Given the description of an element on the screen output the (x, y) to click on. 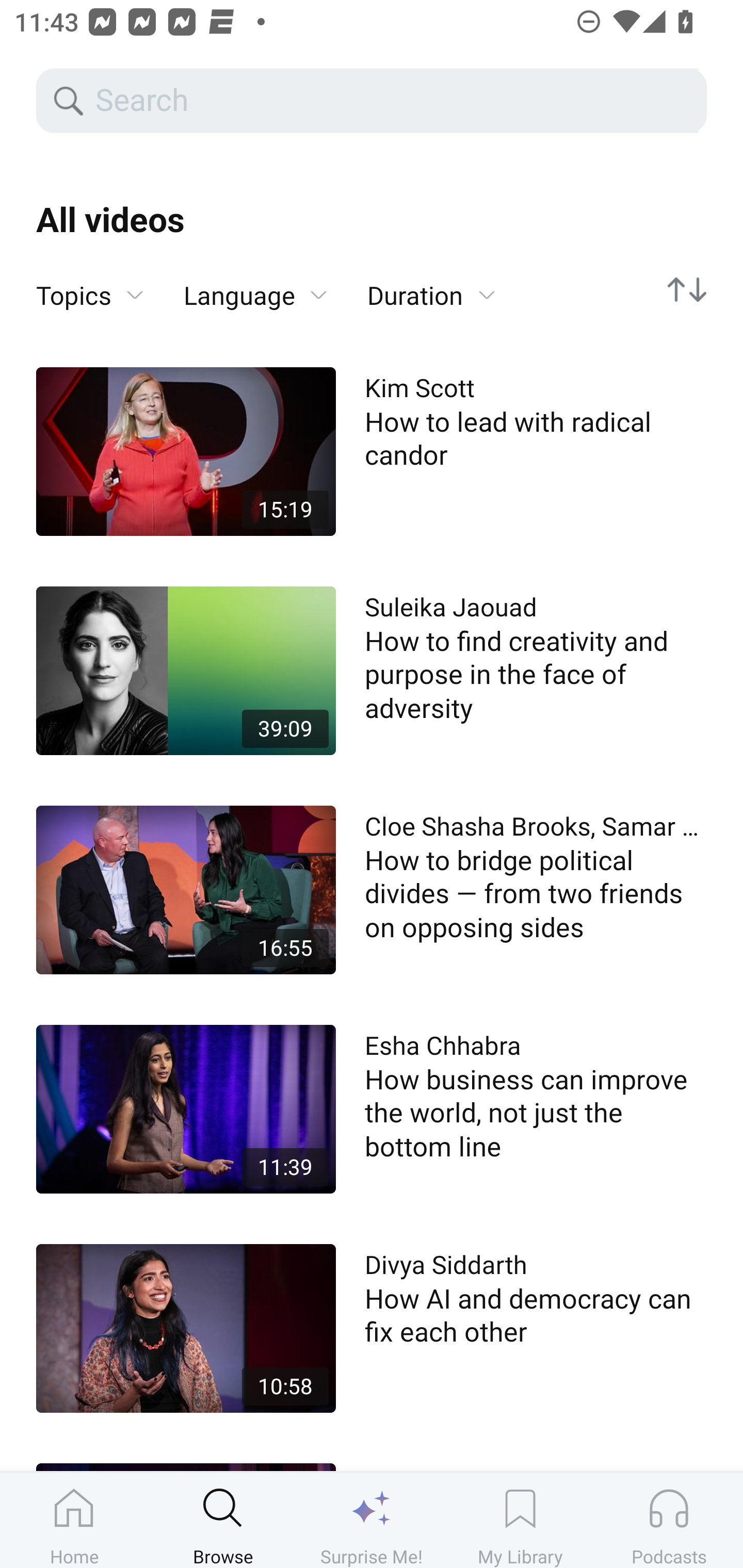
Search (395, 100)
Topics (90, 295)
Language (255, 295)
Duration (431, 295)
15:19 Kim Scott How to lead with radical candor (371, 451)
Home (74, 1520)
Browse (222, 1520)
Surprise Me! (371, 1520)
My Library (519, 1520)
Podcasts (668, 1520)
